Given the description of an element on the screen output the (x, y) to click on. 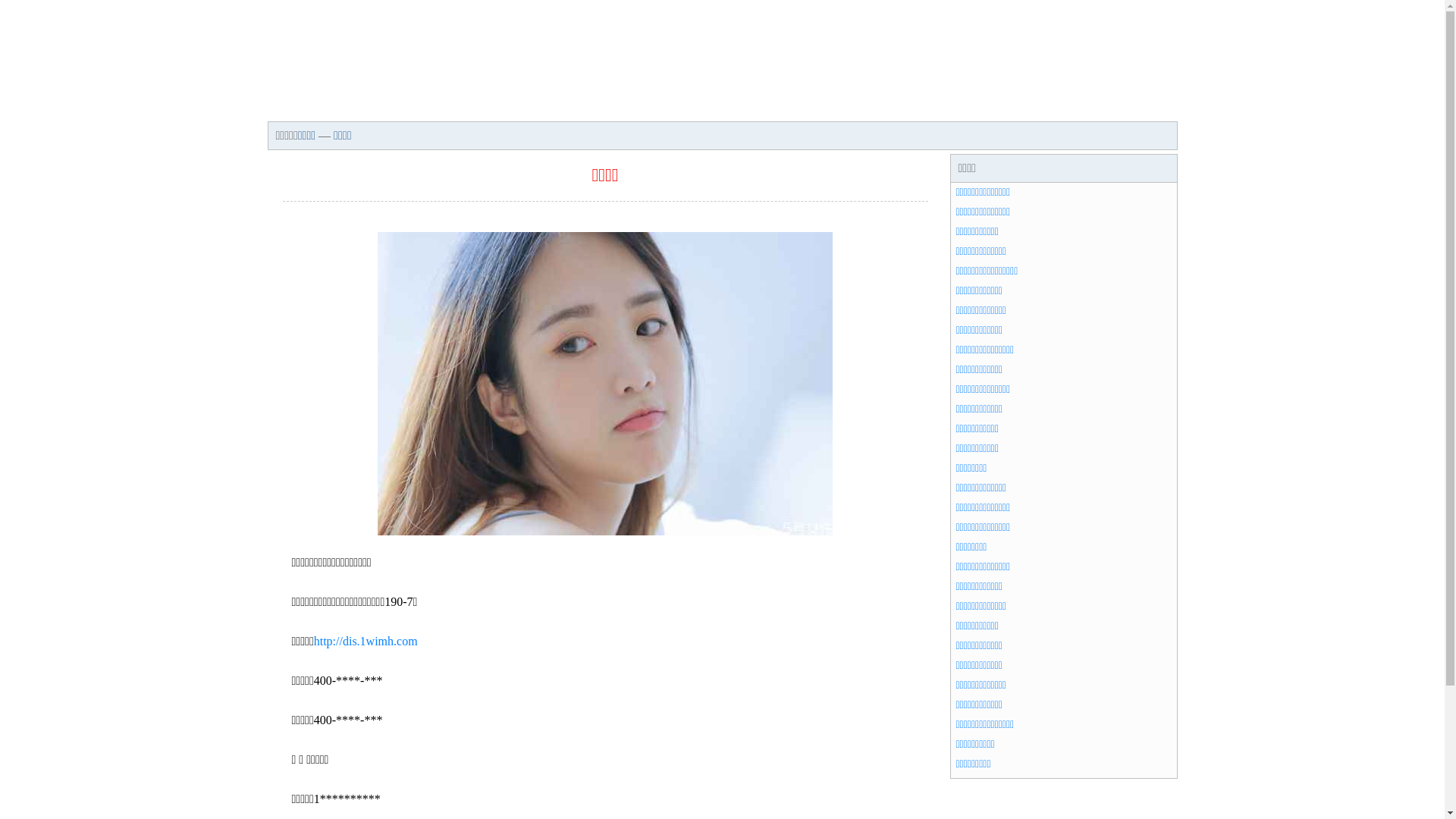
http://dis.1wimh.com Element type: text (365, 640)
